Given the description of an element on the screen output the (x, y) to click on. 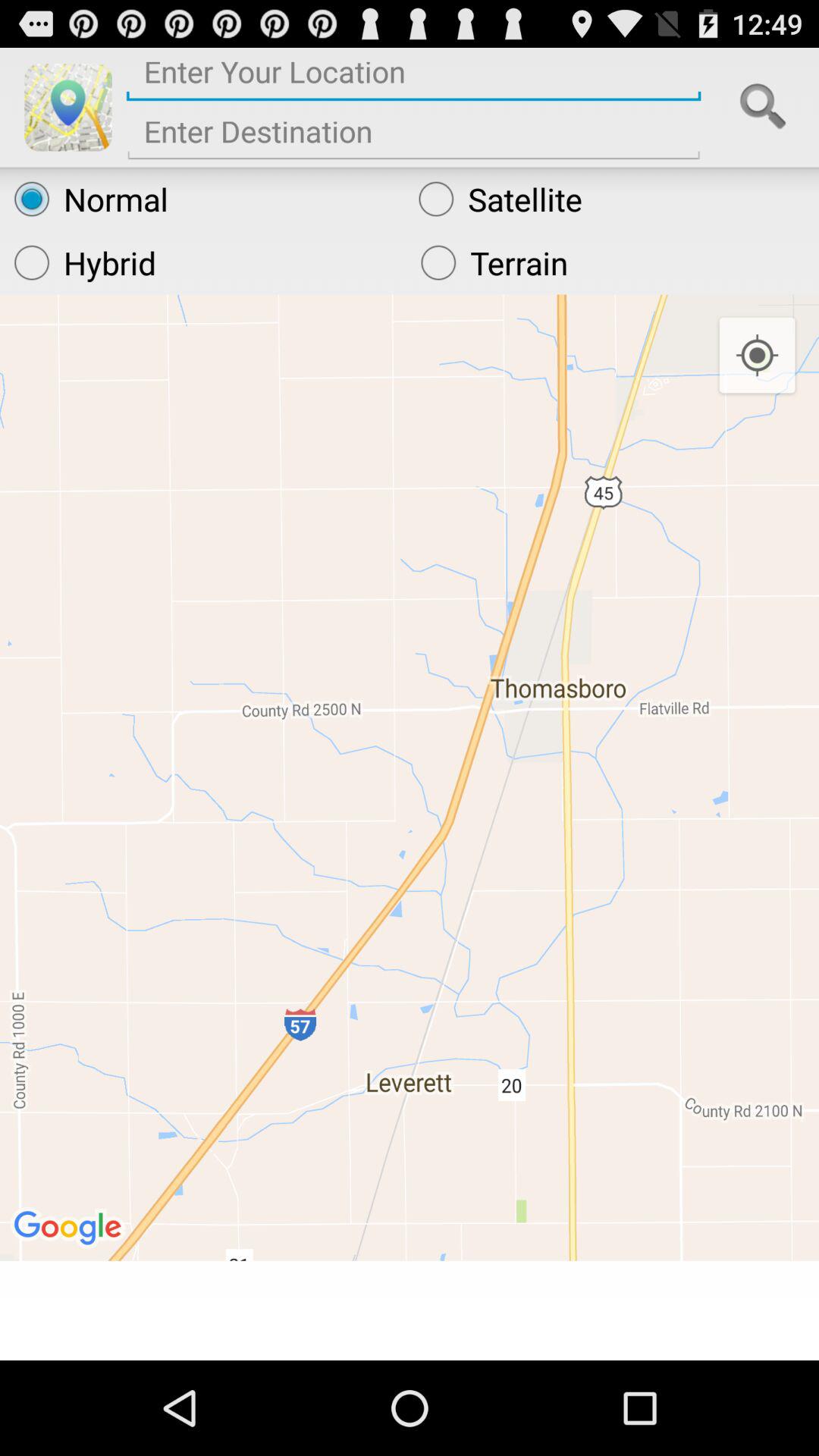
select the icon next to terrain icon (203, 262)
